Given the description of an element on the screen output the (x, y) to click on. 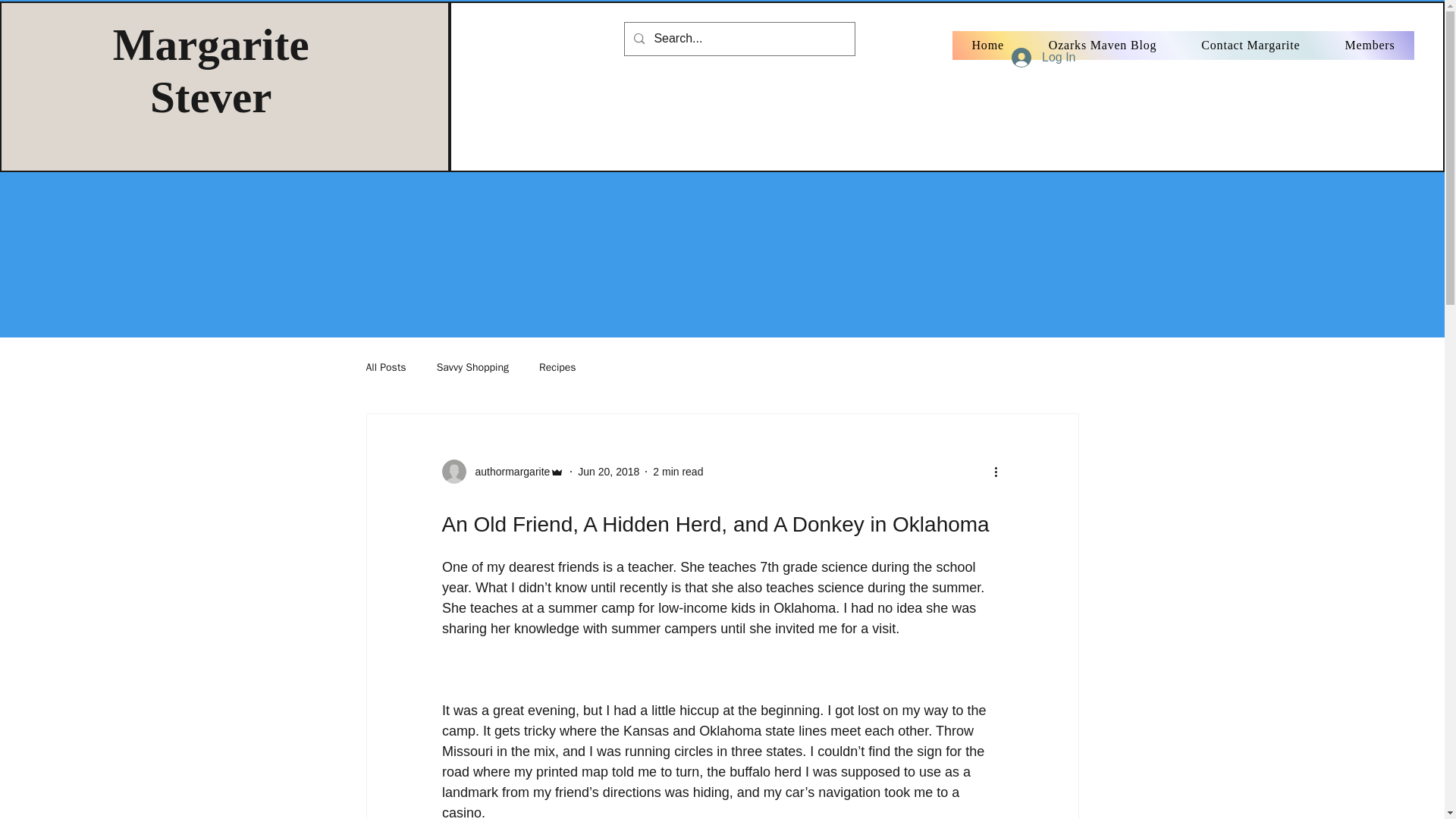
authormargarite (507, 471)
Home (987, 45)
Log In (1043, 57)
Members (1368, 45)
Savvy Shopping (472, 367)
Margarite Stever (210, 70)
2 min read (677, 471)
Jun 20, 2018 (608, 471)
All Posts (385, 367)
authormargarite (502, 471)
Ozarks Maven Blog (1101, 45)
Recipes (557, 367)
Contact Margarite (1250, 45)
